Given the description of an element on the screen output the (x, y) to click on. 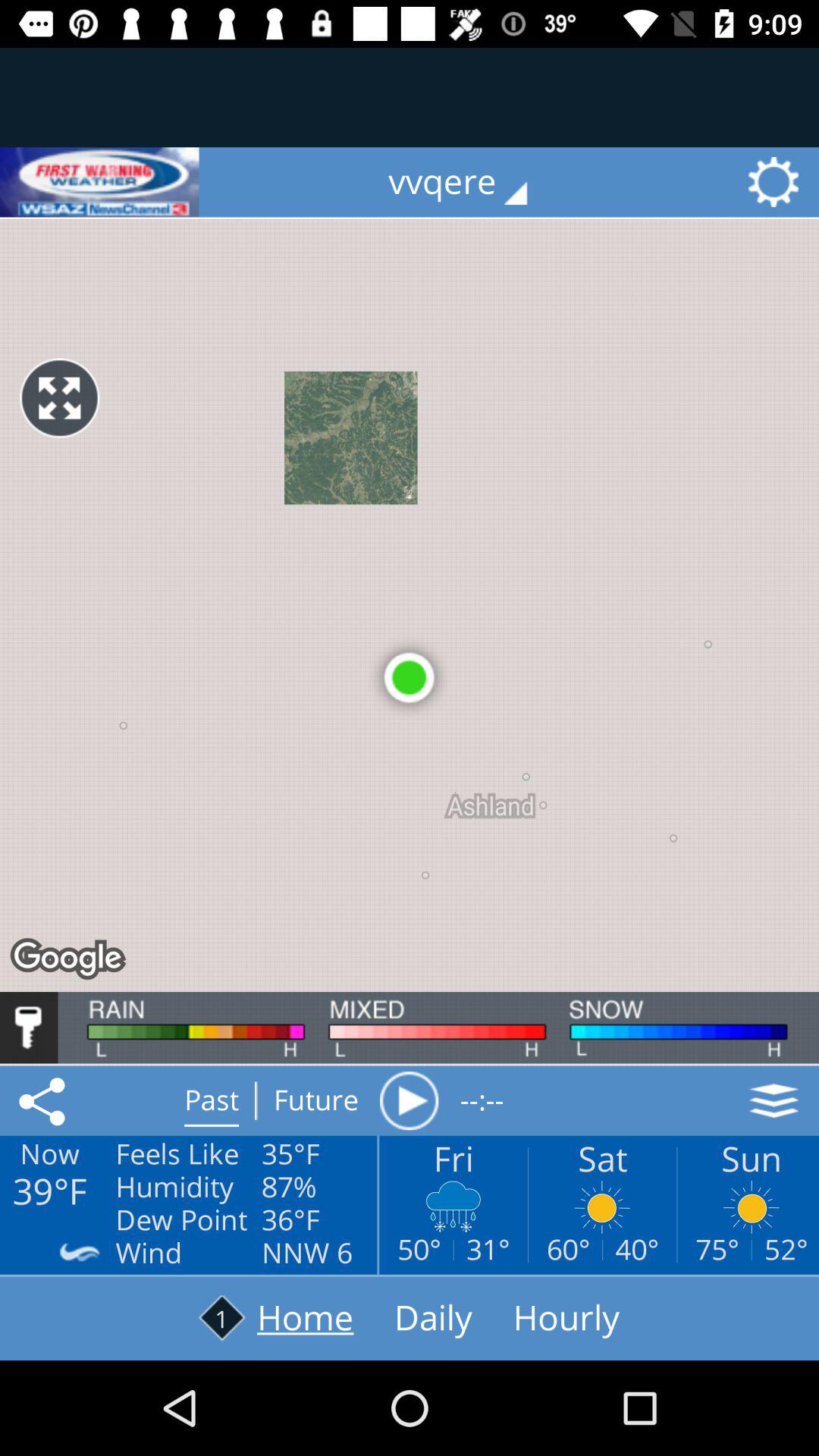
key (29, 1027)
